Given the description of an element on the screen output the (x, y) to click on. 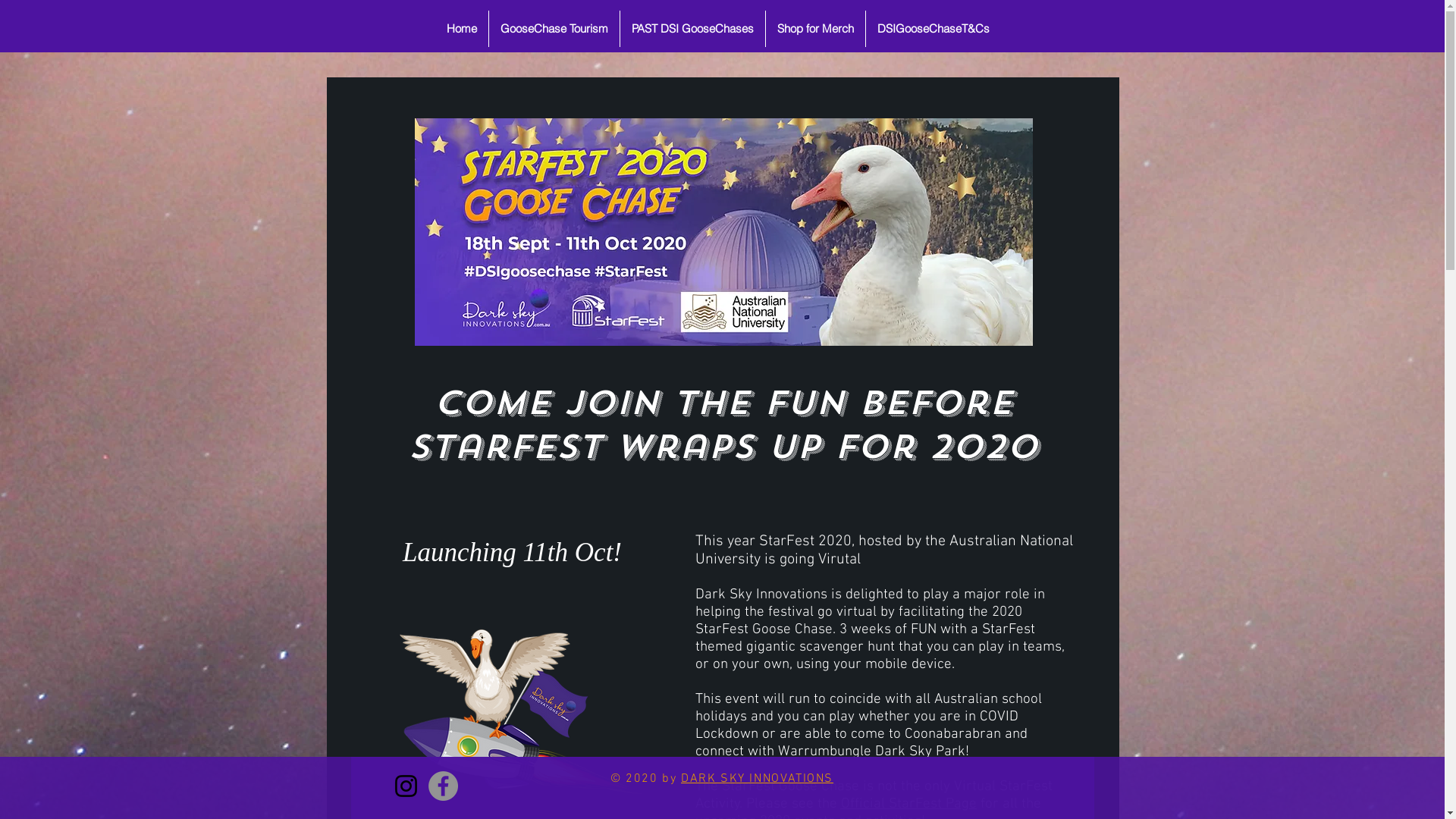
Official StarFest Page Element type: text (907, 803)
DSIGooseChaseT&Cs Element type: text (933, 28)
Shop for Merch Element type: text (815, 28)
PAST DSI GooseChases Element type: text (692, 28)
GooseChase Tourism Element type: text (553, 28)
Home Element type: text (461, 28)
DARK SKY INNOVATIONS Element type: text (756, 778)
